Given the description of an element on the screen output the (x, y) to click on. 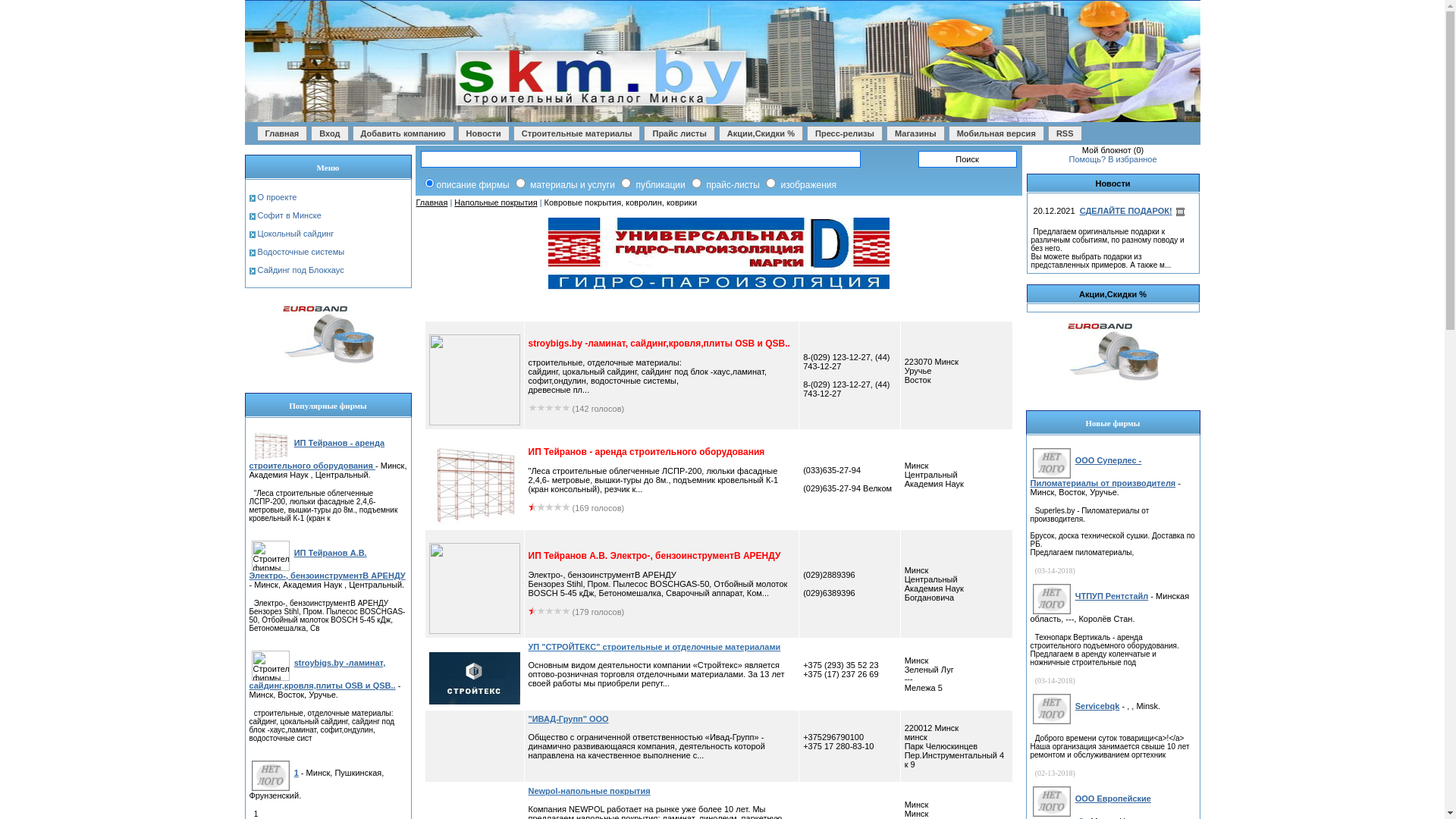
Servicebqk Element type: text (1096, 705)
RSS Element type: text (1065, 133)
1 Element type: text (294, 772)
